Given the description of an element on the screen output the (x, y) to click on. 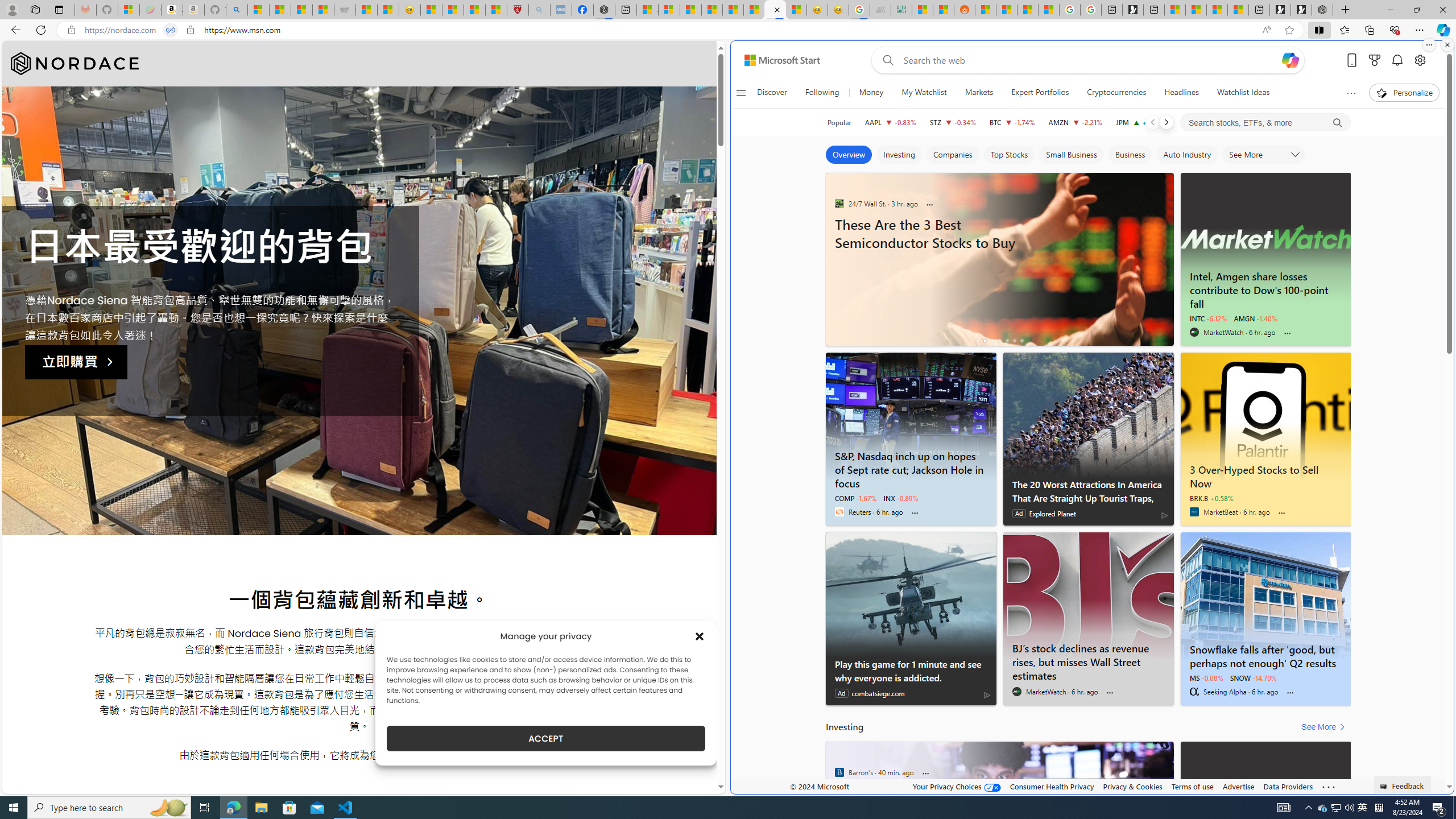
Seeking Alpha (1193, 691)
ACCEPT (545, 738)
JPM JPMORGAN CHASE & CO. increase 216.71 +2.11 +0.98% (1140, 122)
MarketBeat (1193, 511)
Skip to content (777, 59)
AdChoices (987, 694)
MarketWatch (1016, 691)
Privacy & Cookies (1131, 785)
Terms of use (1192, 785)
Small Business (1071, 154)
